Given the description of an element on the screen output the (x, y) to click on. 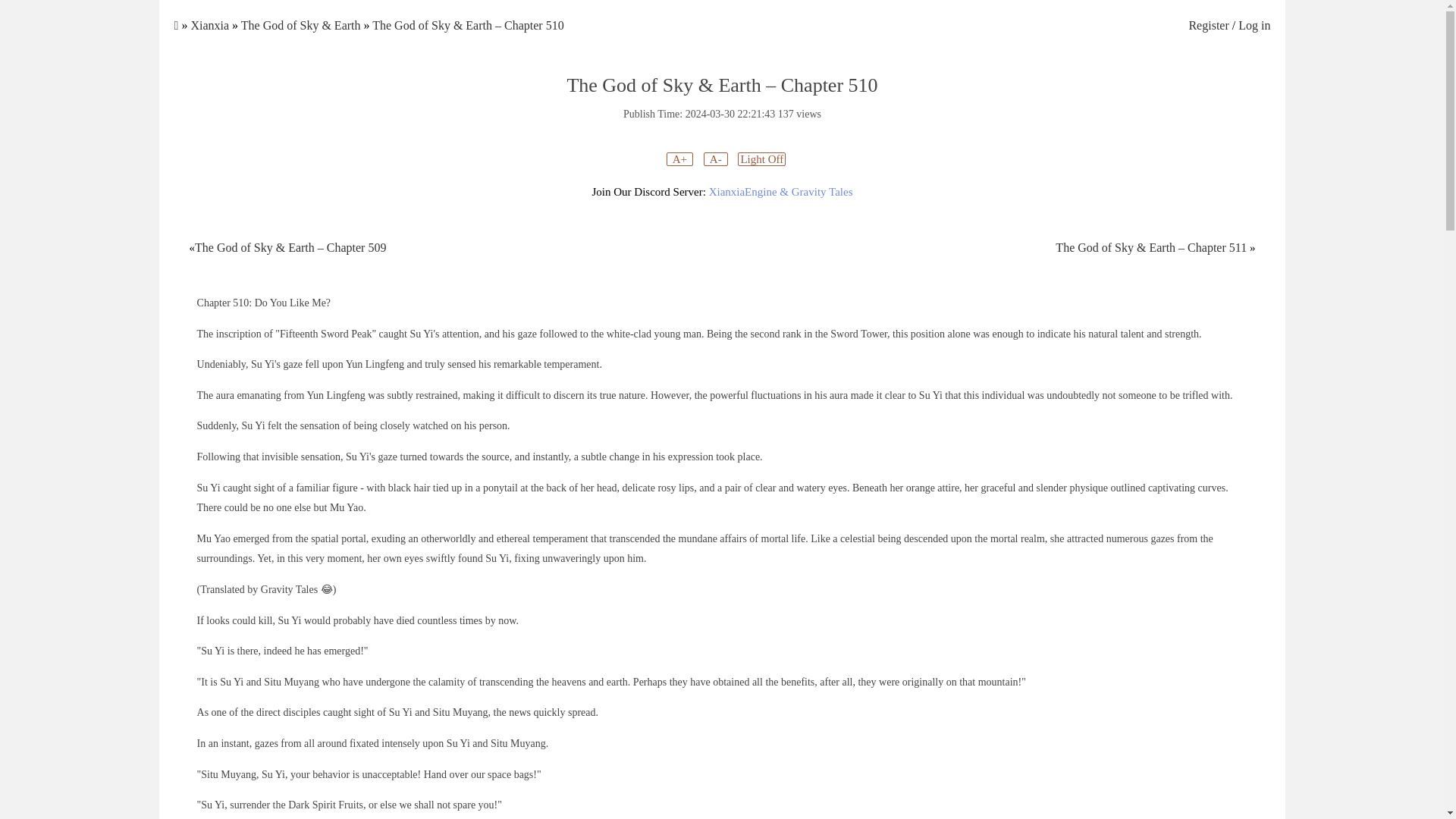
Log in (1254, 24)
Xianxia (209, 24)
Register (1208, 24)
